Given the description of an element on the screen output the (x, y) to click on. 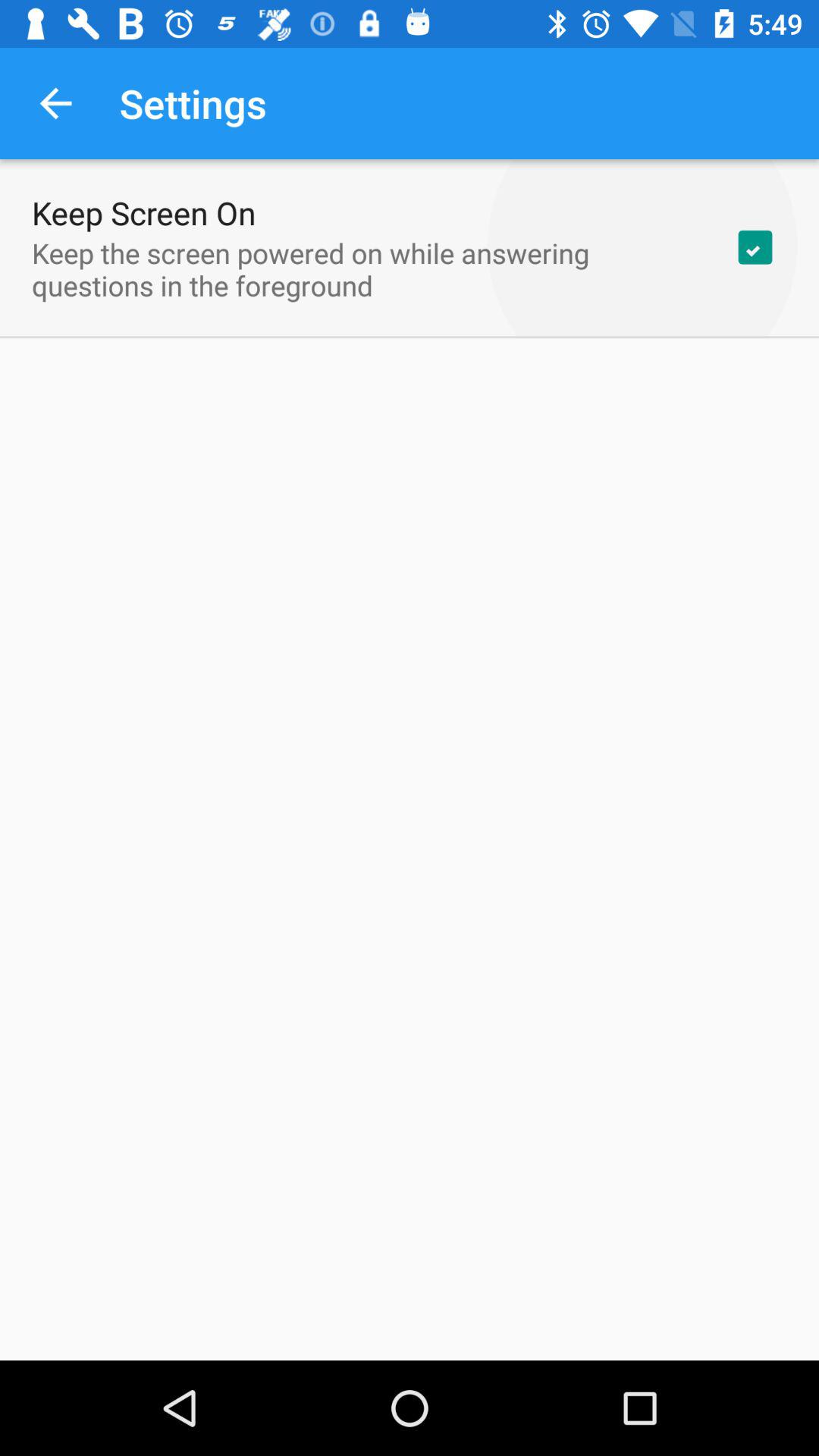
turn off the app to the right of the keep the screen app (755, 247)
